Given the description of an element on the screen output the (x, y) to click on. 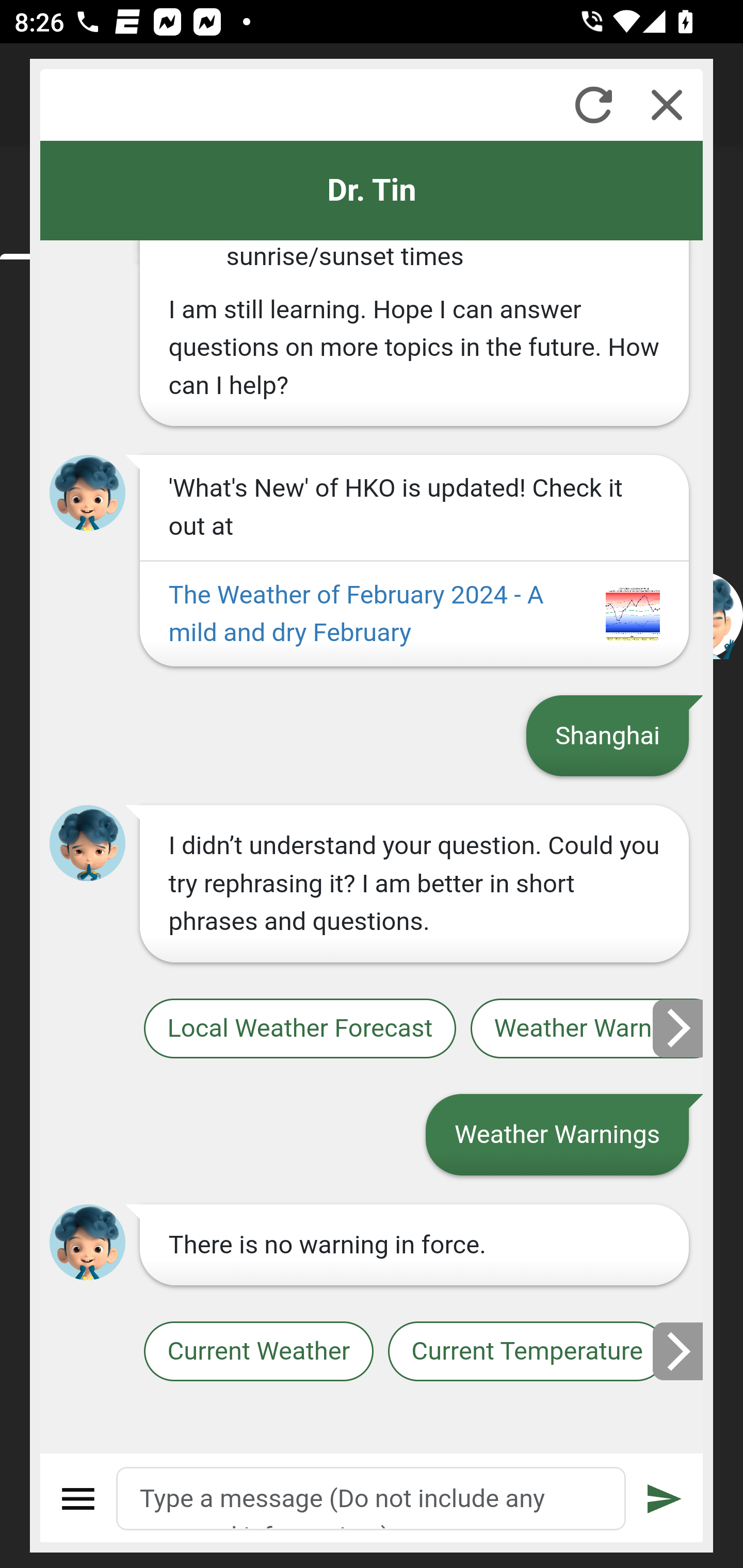
Refresh (593, 104)
Close (666, 104)
Local Weather Forecast (299, 1028)
Weather Warnings (587, 1028)
Next slide (678, 1028)
Current Weather (257, 1351)
Current Temperature (526, 1351)
Next slide (678, 1351)
Submit (665, 1498)
